Given the description of an element on the screen output the (x, y) to click on. 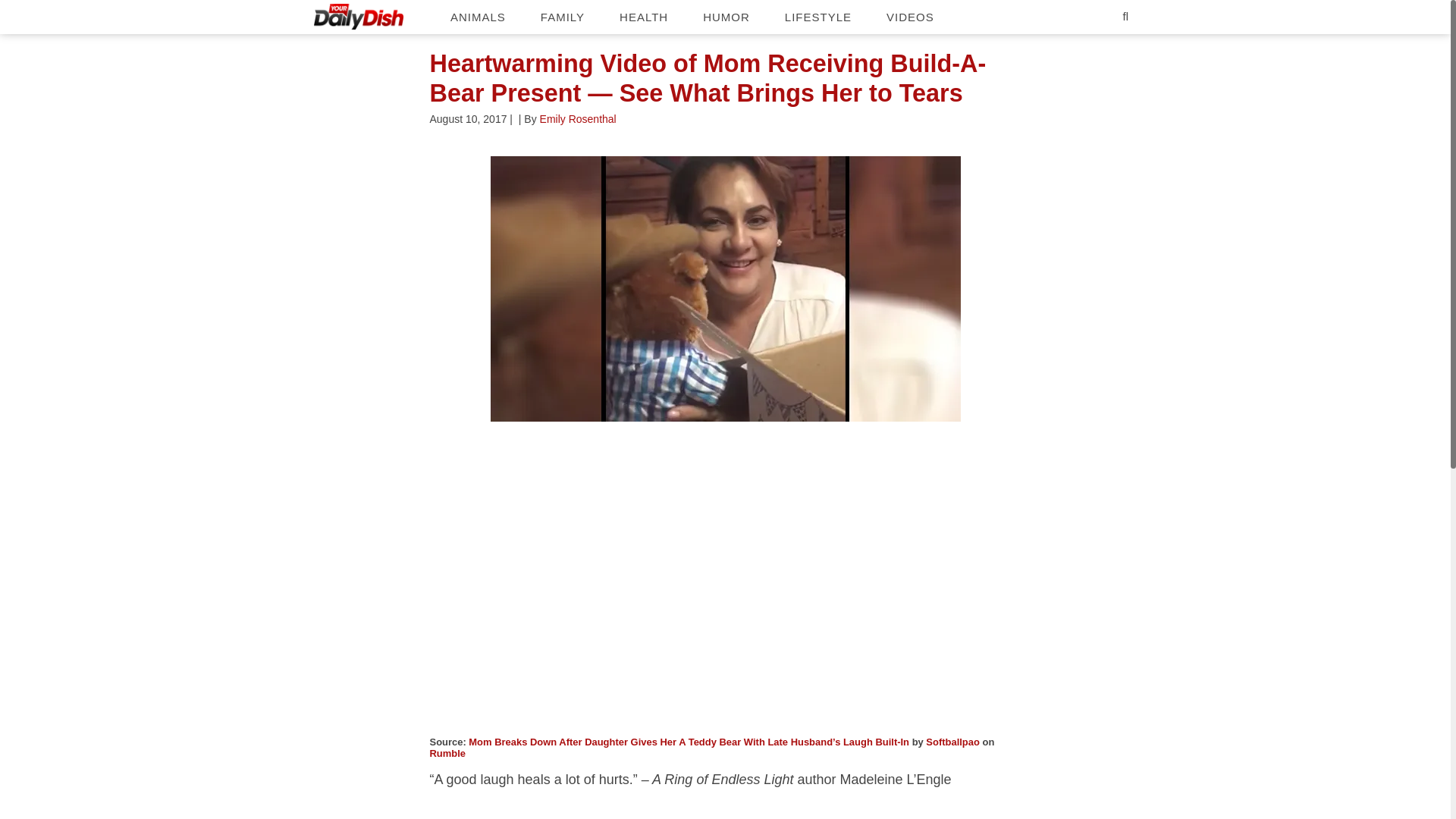
LIFESTYLE (818, 17)
Posts by Emily Rosenthal (577, 119)
Rumble (447, 753)
VIDEOS (909, 17)
Emily Rosenthal (577, 119)
HEALTH (643, 17)
Softballpao (952, 741)
ANIMALS (478, 17)
FAMILY (562, 17)
HUMOR (726, 17)
